Given the description of an element on the screen output the (x, y) to click on. 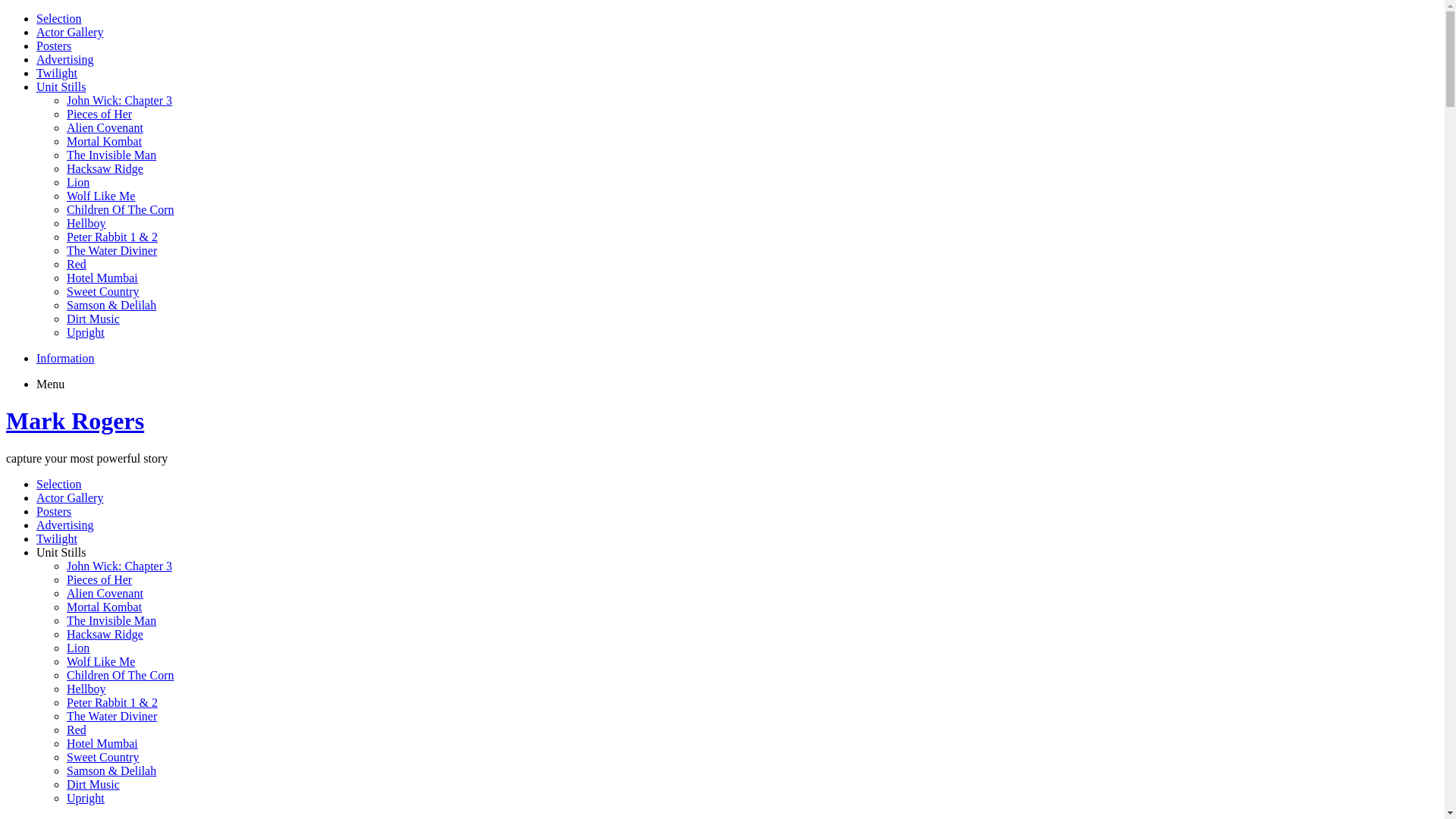
Lion Element type: text (77, 647)
Actor Gallery Element type: text (69, 31)
John Wick: Chapter 3 Element type: text (119, 100)
Mortal Kombat Element type: text (103, 140)
Pieces of Her Element type: text (98, 579)
The Water Diviner Element type: text (111, 250)
Hotel Mumbai Element type: text (102, 743)
Twilight Element type: text (56, 538)
Hacksaw Ridge Element type: text (104, 168)
Wolf Like Me Element type: text (100, 661)
Alien Covenant Element type: text (104, 127)
Hacksaw Ridge Element type: text (104, 633)
Selection Element type: text (58, 483)
Alien Covenant Element type: text (104, 592)
Upright Element type: text (85, 797)
Unit Stills Element type: text (60, 552)
Children Of The Corn Element type: text (119, 209)
Selection Element type: text (58, 18)
Advertising Element type: text (65, 524)
Lion Element type: text (77, 181)
Samson & Delilah Element type: text (111, 304)
Twilight Element type: text (56, 72)
John Wick: Chapter 3 Element type: text (119, 565)
Samson & Delilah Element type: text (111, 770)
Dirt Music Element type: text (92, 318)
Red Element type: text (76, 729)
Posters Element type: text (53, 511)
Red Element type: text (76, 263)
Information Element type: text (65, 357)
Advertising Element type: text (65, 59)
The Invisible Man Element type: text (111, 154)
Peter Rabbit 1 & 2 Element type: text (111, 702)
Sweet Country Element type: text (102, 756)
Hellboy Element type: text (86, 688)
The Invisible Man Element type: text (111, 620)
Menu Element type: text (50, 383)
Hellboy Element type: text (86, 222)
Wolf Like Me Element type: text (100, 195)
Posters Element type: text (53, 45)
Peter Rabbit 1 & 2 Element type: text (111, 236)
Upright Element type: text (85, 332)
Mark Rogers Element type: text (75, 420)
Pieces of Her Element type: text (98, 113)
Actor Gallery Element type: text (69, 497)
Children Of The Corn Element type: text (119, 674)
Mortal Kombat Element type: text (103, 606)
Hotel Mumbai Element type: text (102, 277)
Dirt Music Element type: text (92, 784)
The Water Diviner Element type: text (111, 715)
Unit Stills Element type: text (60, 86)
Sweet Country Element type: text (102, 291)
